Given the description of an element on the screen output the (x, y) to click on. 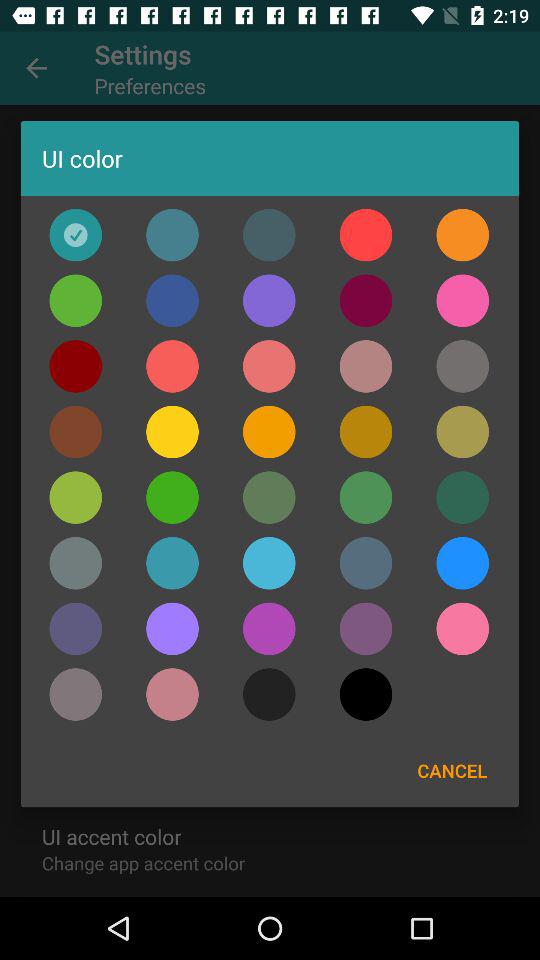
swipe until the cancel item (452, 770)
